Given the description of an element on the screen output the (x, y) to click on. 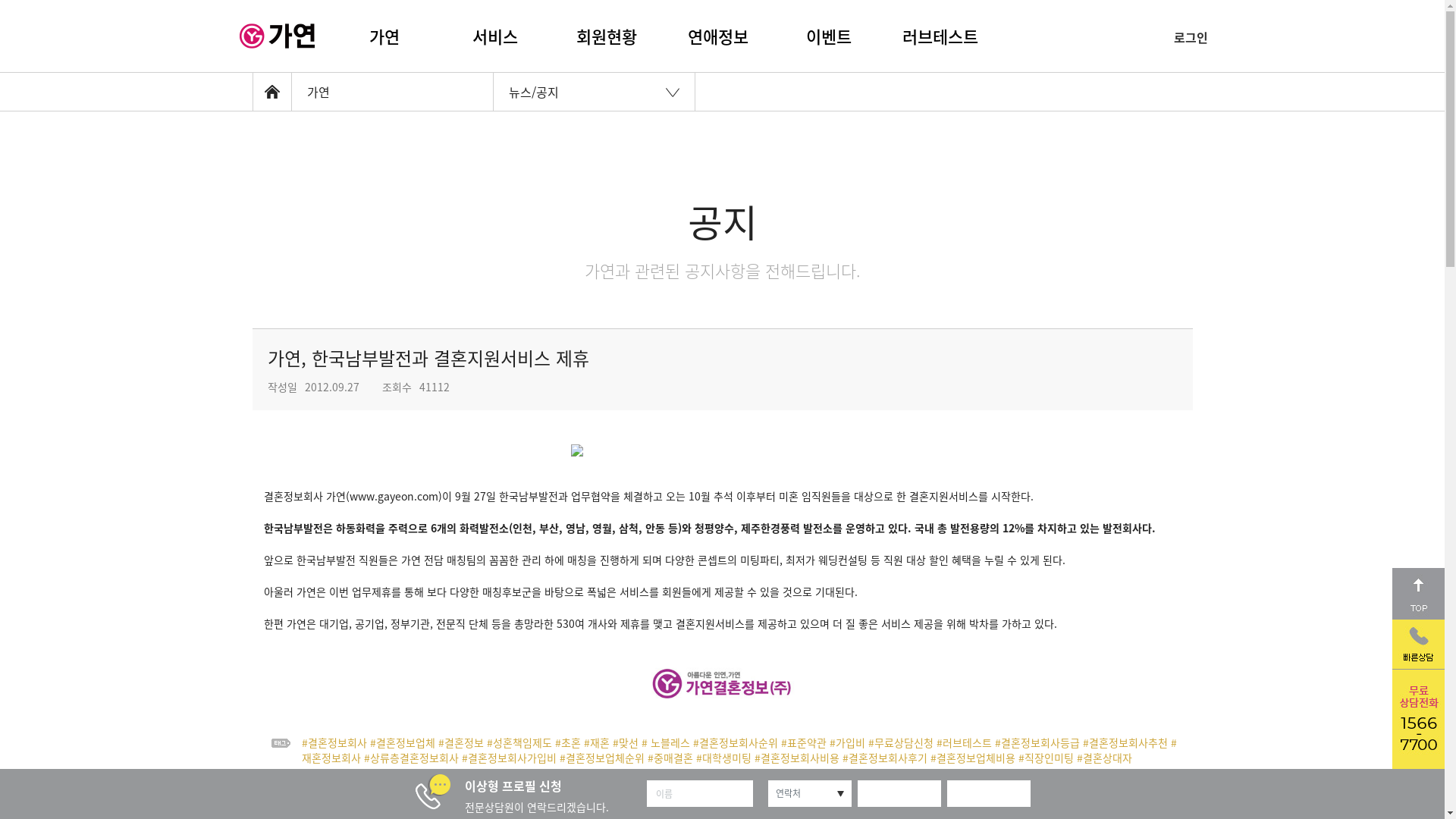
www.gayeon.com Element type: text (392, 495)
